Given the description of an element on the screen output the (x, y) to click on. 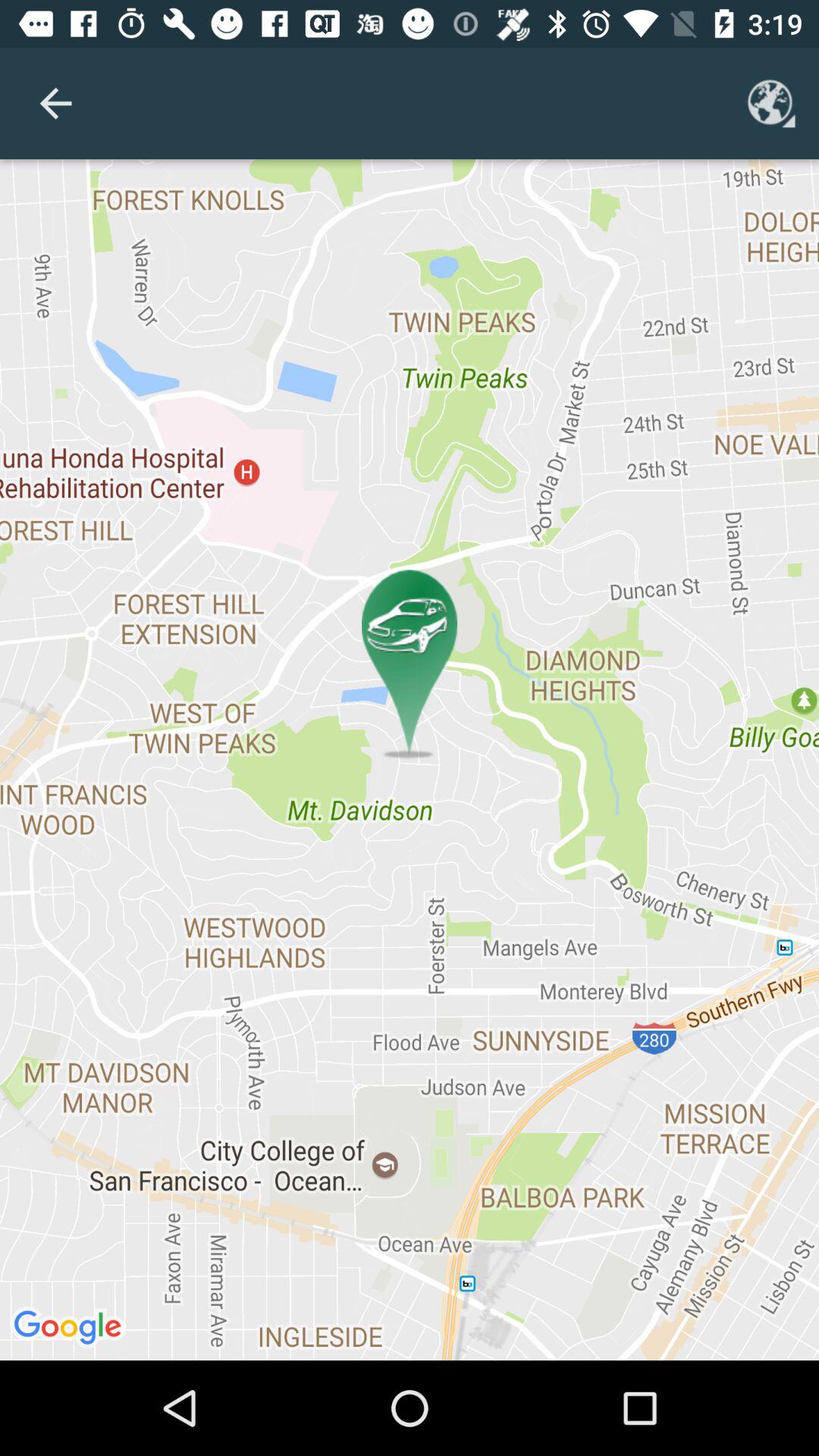
choose item at the top right corner (771, 103)
